Given the description of an element on the screen output the (x, y) to click on. 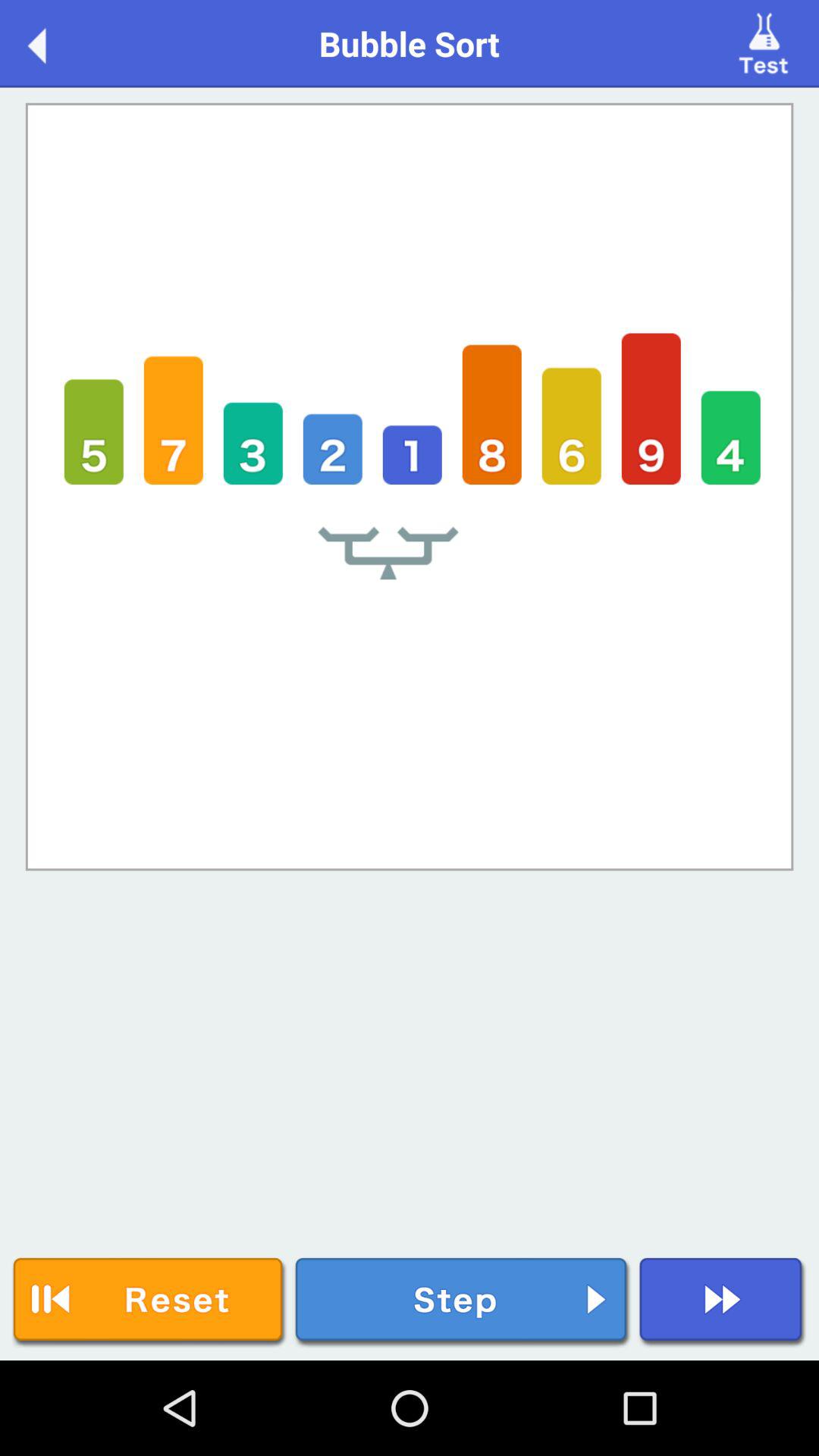
test the data (766, 42)
